Given the description of an element on the screen output the (x, y) to click on. 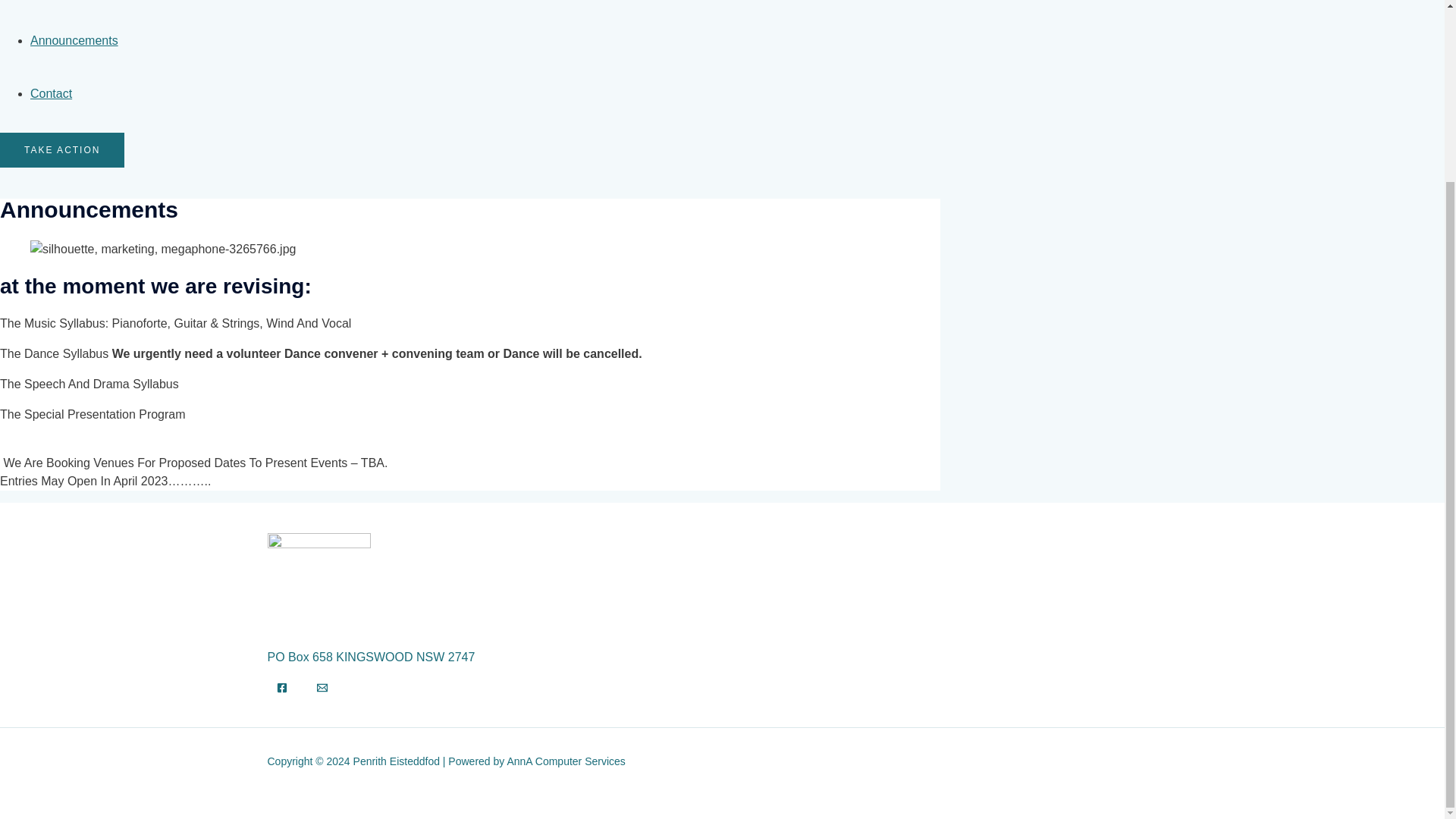
TAKE ACTION (61, 149)
Email (322, 687)
Contact (50, 92)
Announcements (73, 40)
Email (321, 688)
